Given the description of an element on the screen output the (x, y) to click on. 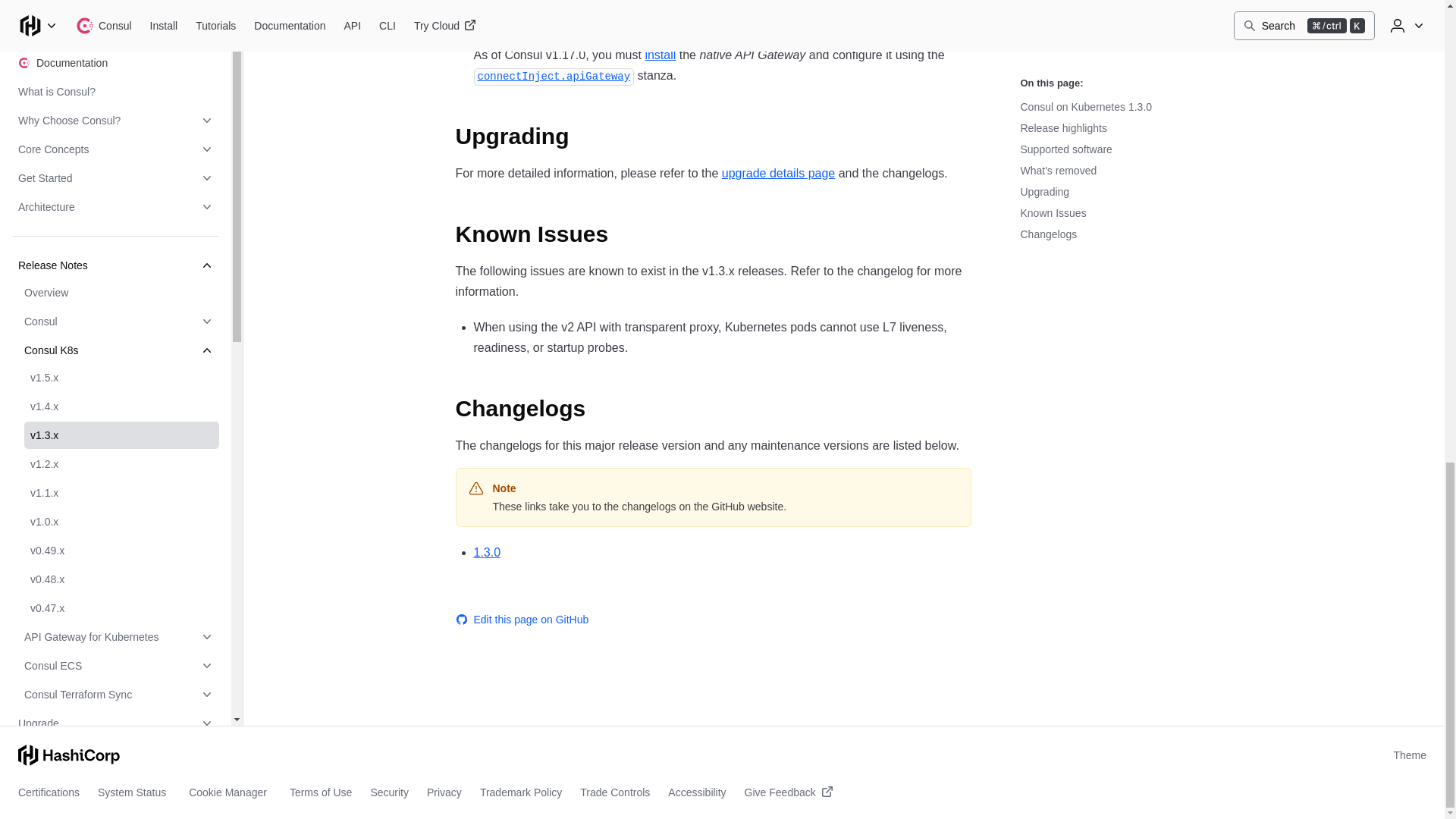
Upgrading (523, 136)
Changelogs (532, 408)
Known Issues (542, 234)
